Given the description of an element on the screen output the (x, y) to click on. 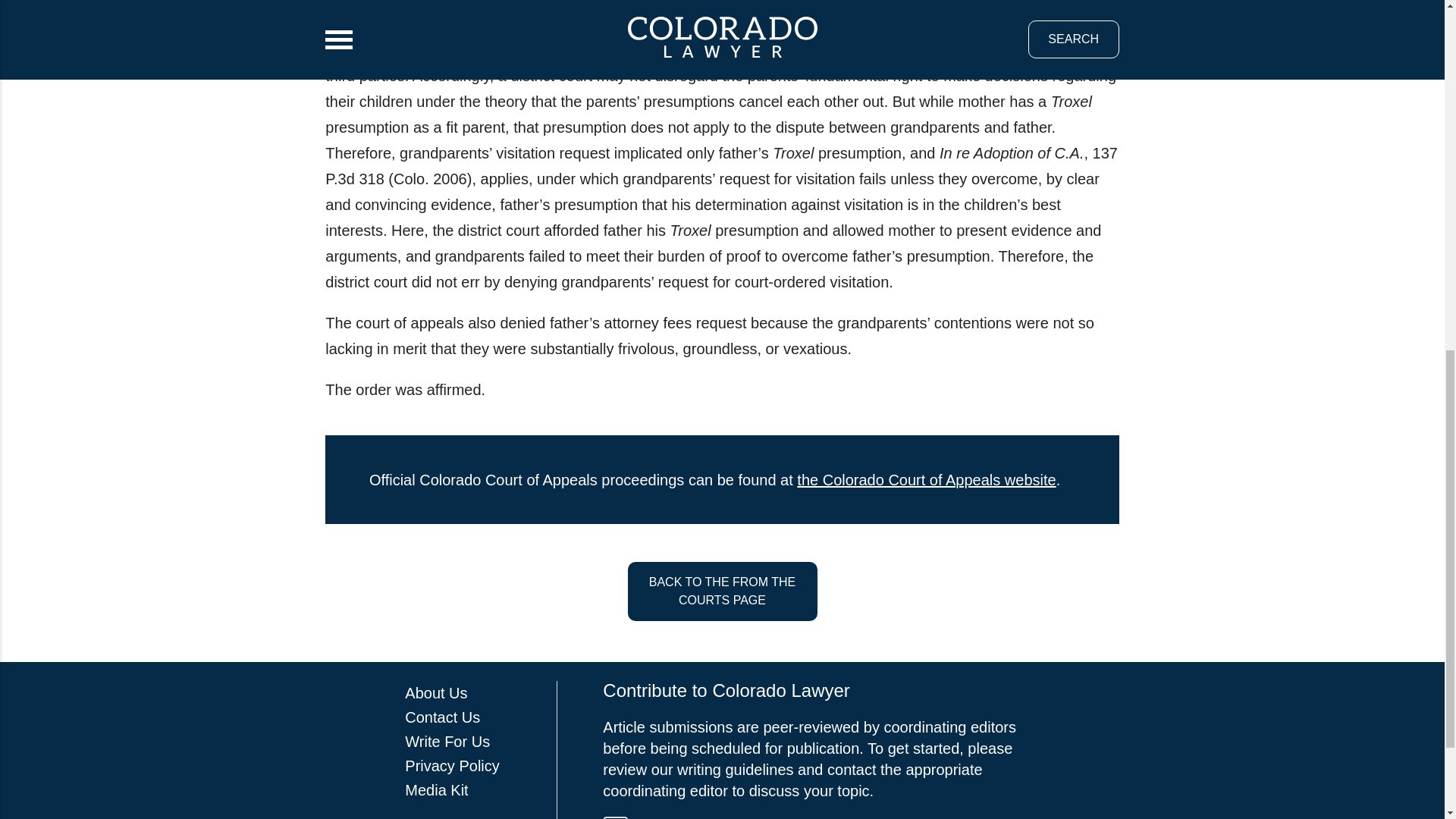
Contact Us (442, 717)
About Us (435, 692)
BACK TO THE FROM THE COURTS PAGE (721, 590)
Privacy Policy (451, 765)
Media Kit (435, 790)
the Colorado Court of Appeals website (925, 479)
Write For Us (446, 741)
